Given the description of an element on the screen output the (x, y) to click on. 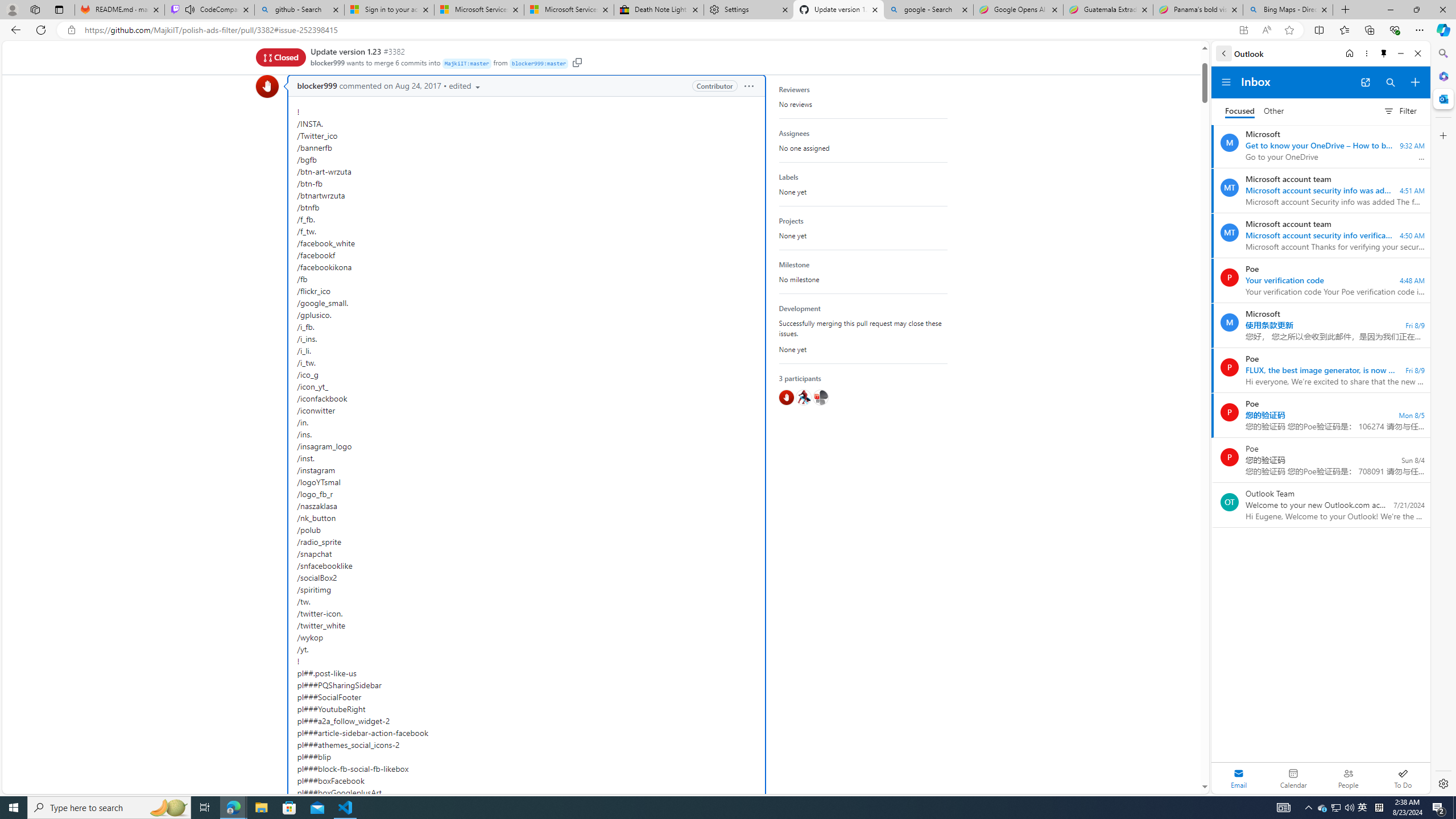
Focused (1239, 110)
Folder navigation (1225, 82)
Open in new tab (1365, 82)
Copy (577, 62)
Focused Inbox, toggle to go to Other Inbox (1254, 110)
